Given the description of an element on the screen output the (x, y) to click on. 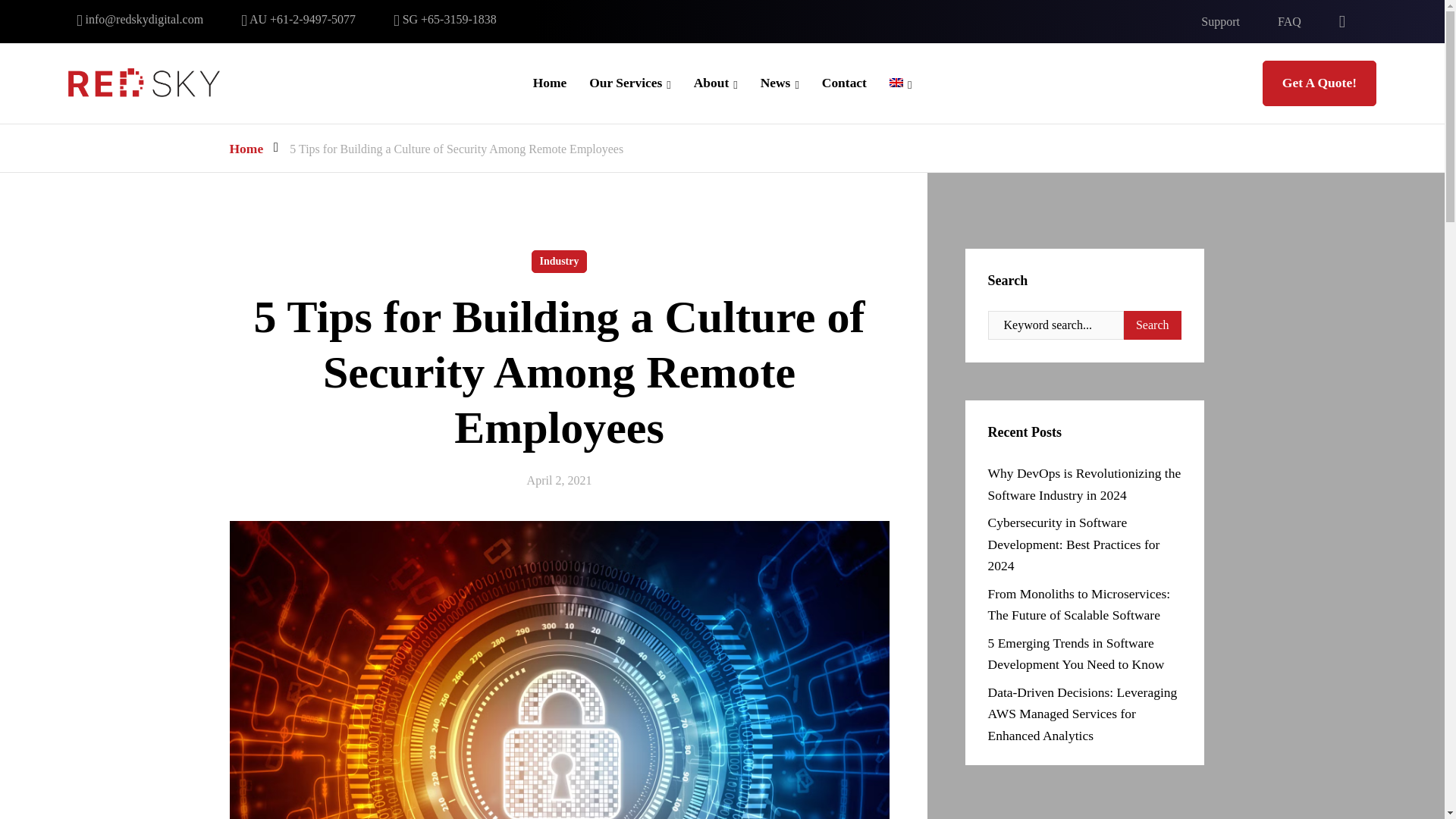
Home (549, 82)
Our Services (625, 82)
News (775, 82)
Contact (844, 82)
Search (1152, 325)
FAQ (1289, 21)
About (711, 82)
Support (1220, 21)
